Given the description of an element on the screen output the (x, y) to click on. 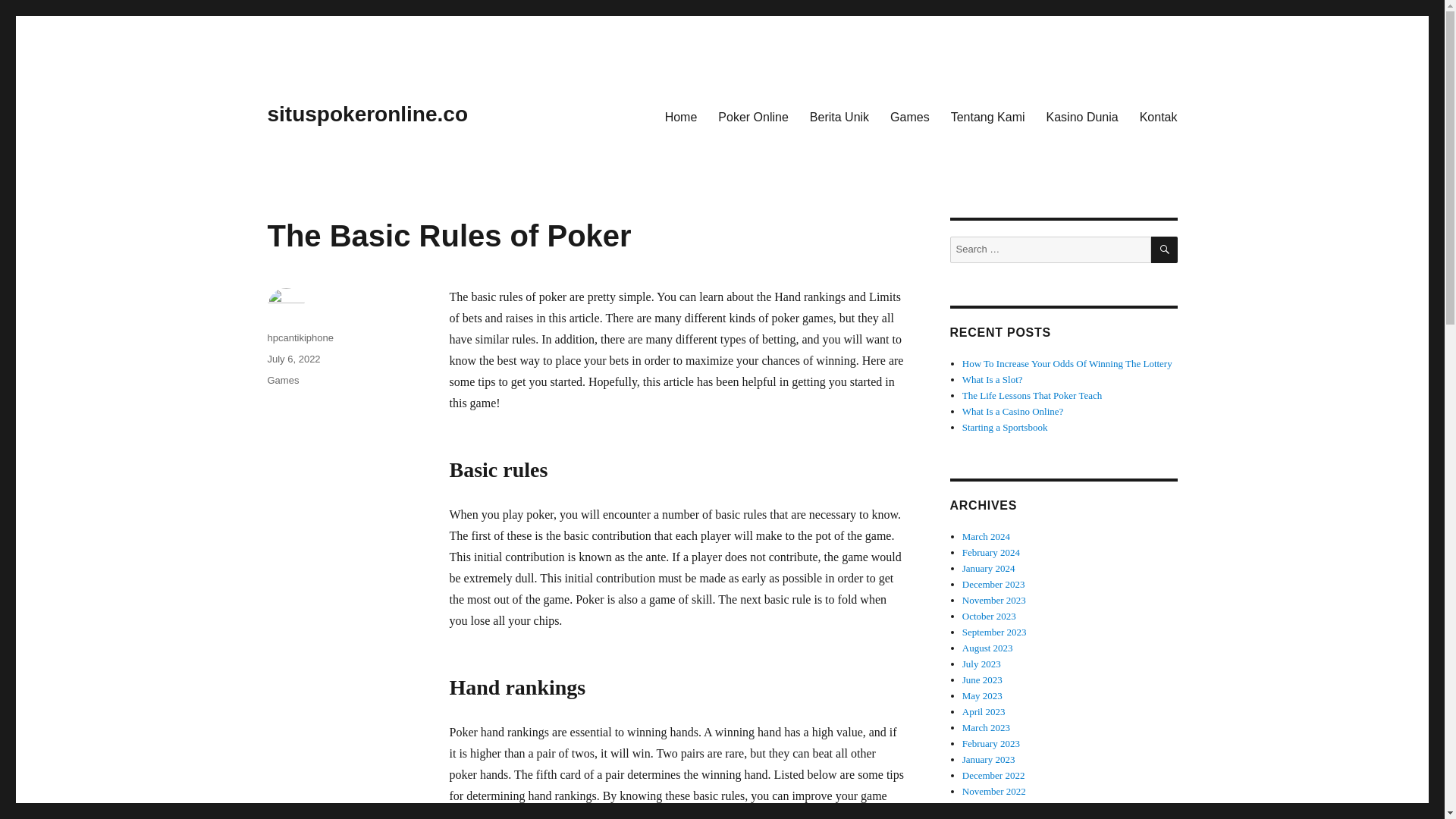
How To Increase Your Odds Of Winning The Lottery (1067, 363)
SEARCH (1164, 249)
situspokeronline.co (366, 114)
November 2023 (994, 600)
June 2023 (982, 679)
Berita Unik (839, 116)
The Life Lessons That Poker Teach (1032, 395)
February 2023 (991, 743)
October 2022 (989, 807)
Poker Online (753, 116)
July 6, 2022 (293, 358)
March 2023 (986, 727)
Kontak (1158, 116)
Starting a Sportsbook (1005, 427)
Games (909, 116)
